Given the description of an element on the screen output the (x, y) to click on. 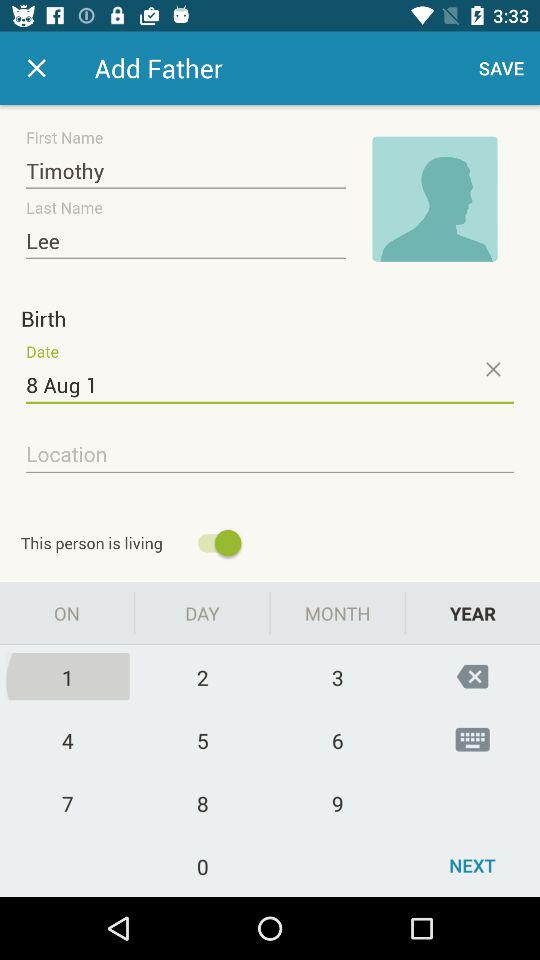
location option (270, 455)
